Given the description of an element on the screen output the (x, y) to click on. 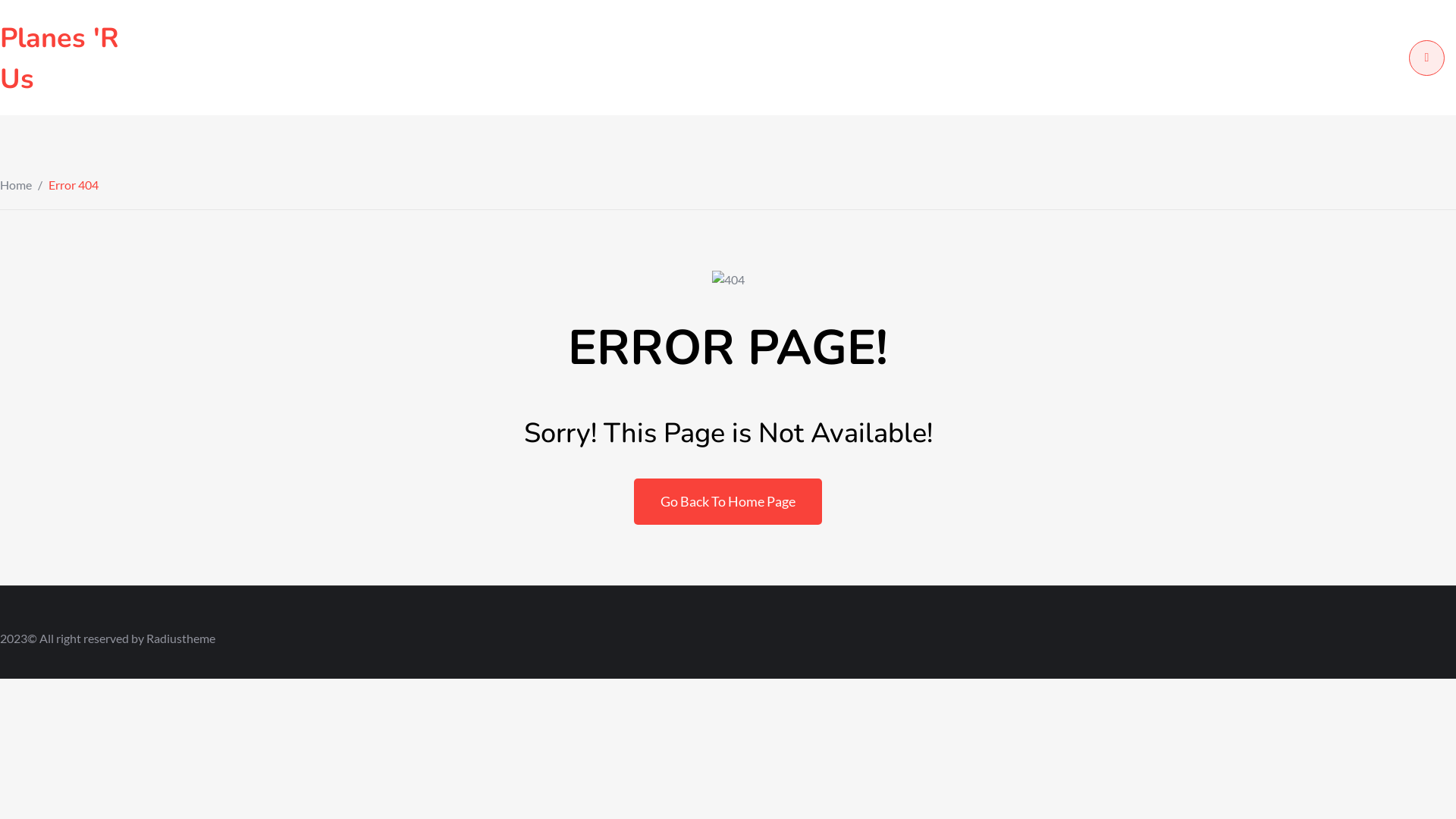
Planes 'R Us Element type: text (59, 58)
Login/Register Element type: hover (1426, 57)
Go Back To Home Page Element type: text (727, 501)
Home Element type: text (15, 184)
